Given the description of an element on the screen output the (x, y) to click on. 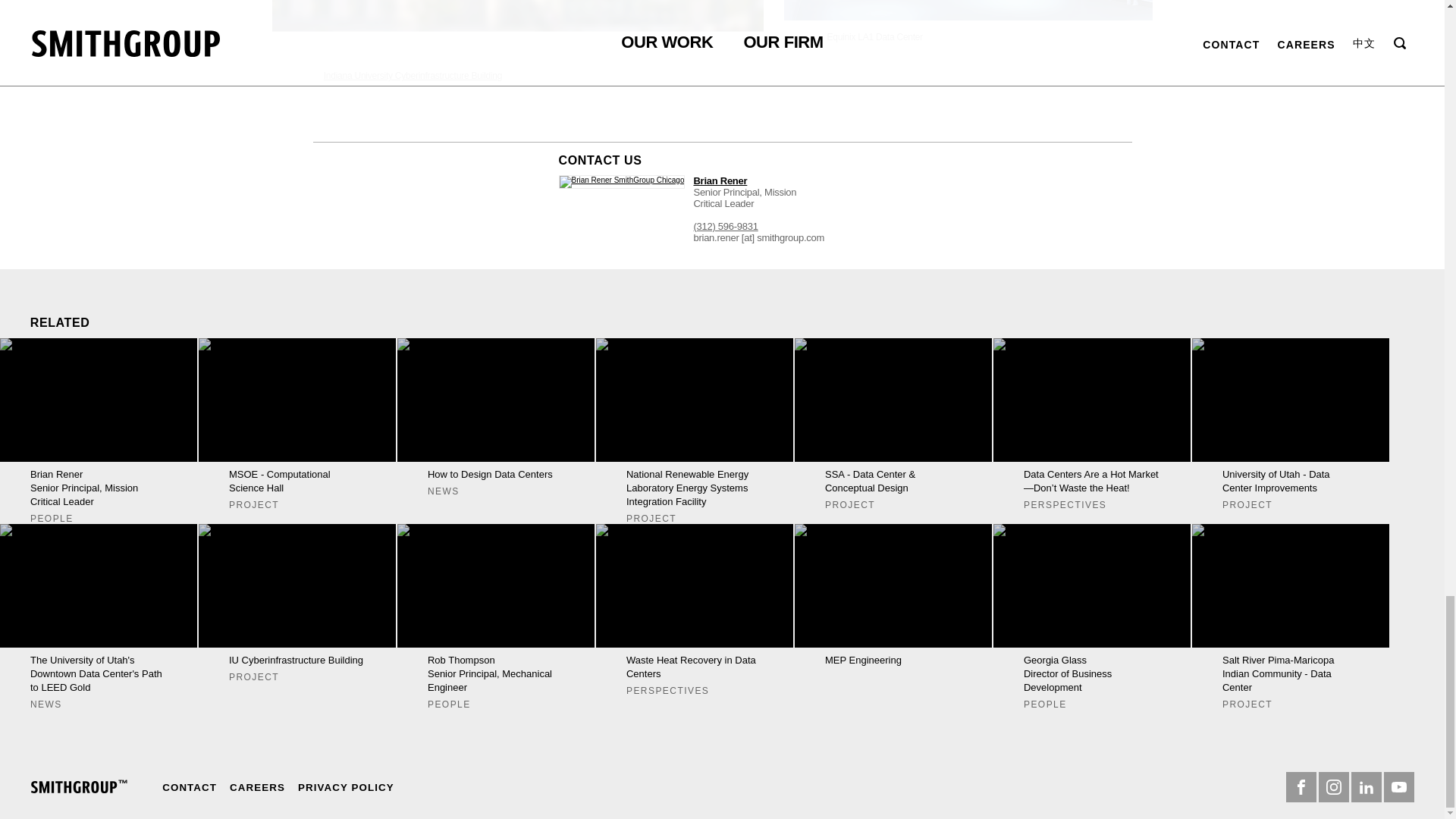
Brian Rener (719, 180)
Home (297, 424)
Indiana University Cyberinfrastructure Building (79, 786)
